Given the description of an element on the screen output the (x, y) to click on. 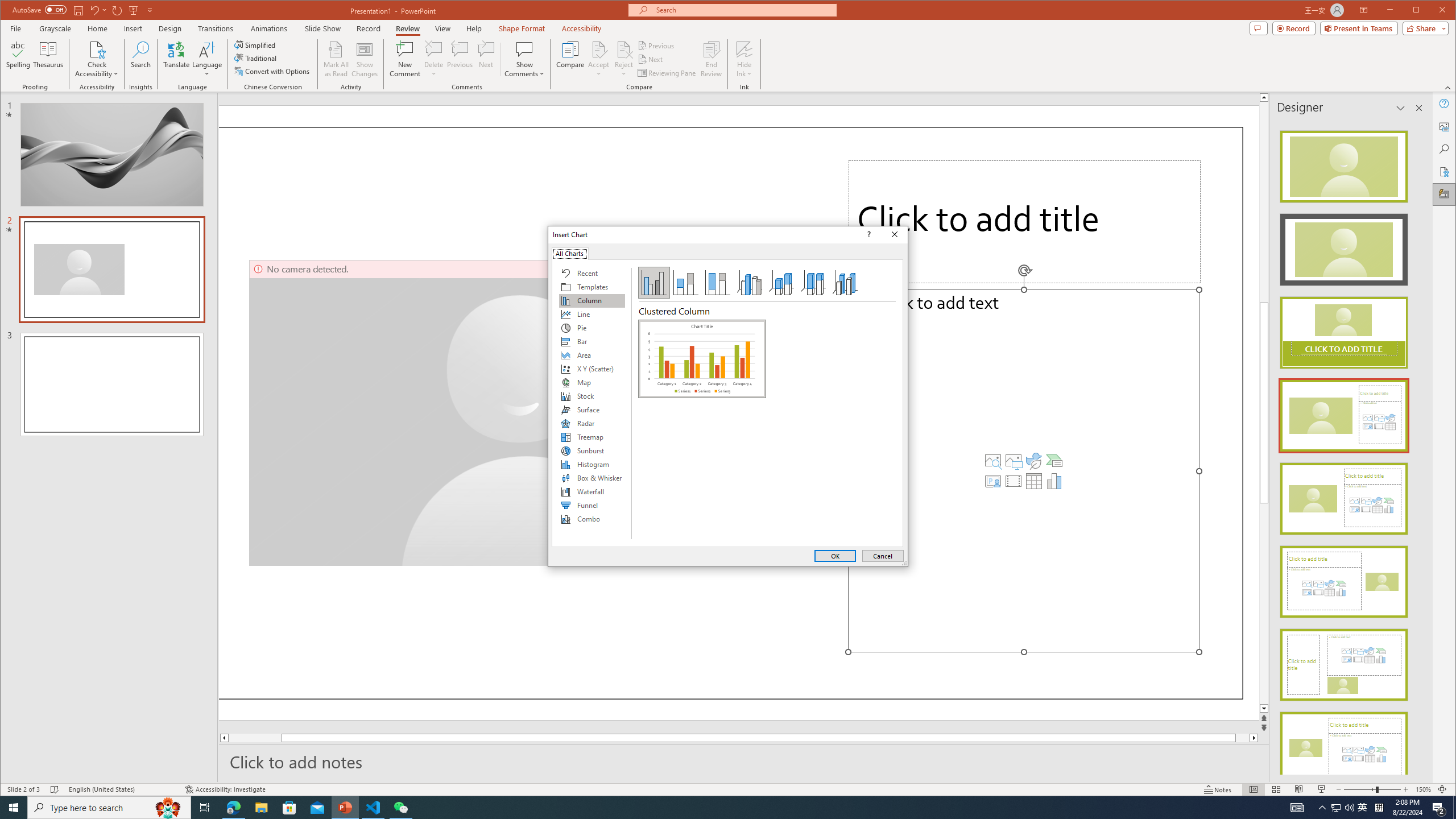
Previous (657, 45)
3-D Column (844, 282)
Insert a SmartArt Graphic (1053, 460)
Accept (598, 59)
Mark All as Read (335, 59)
X Y (Scatter) (591, 368)
Cancel (882, 555)
Accept Change (598, 48)
